Given the description of an element on the screen output the (x, y) to click on. 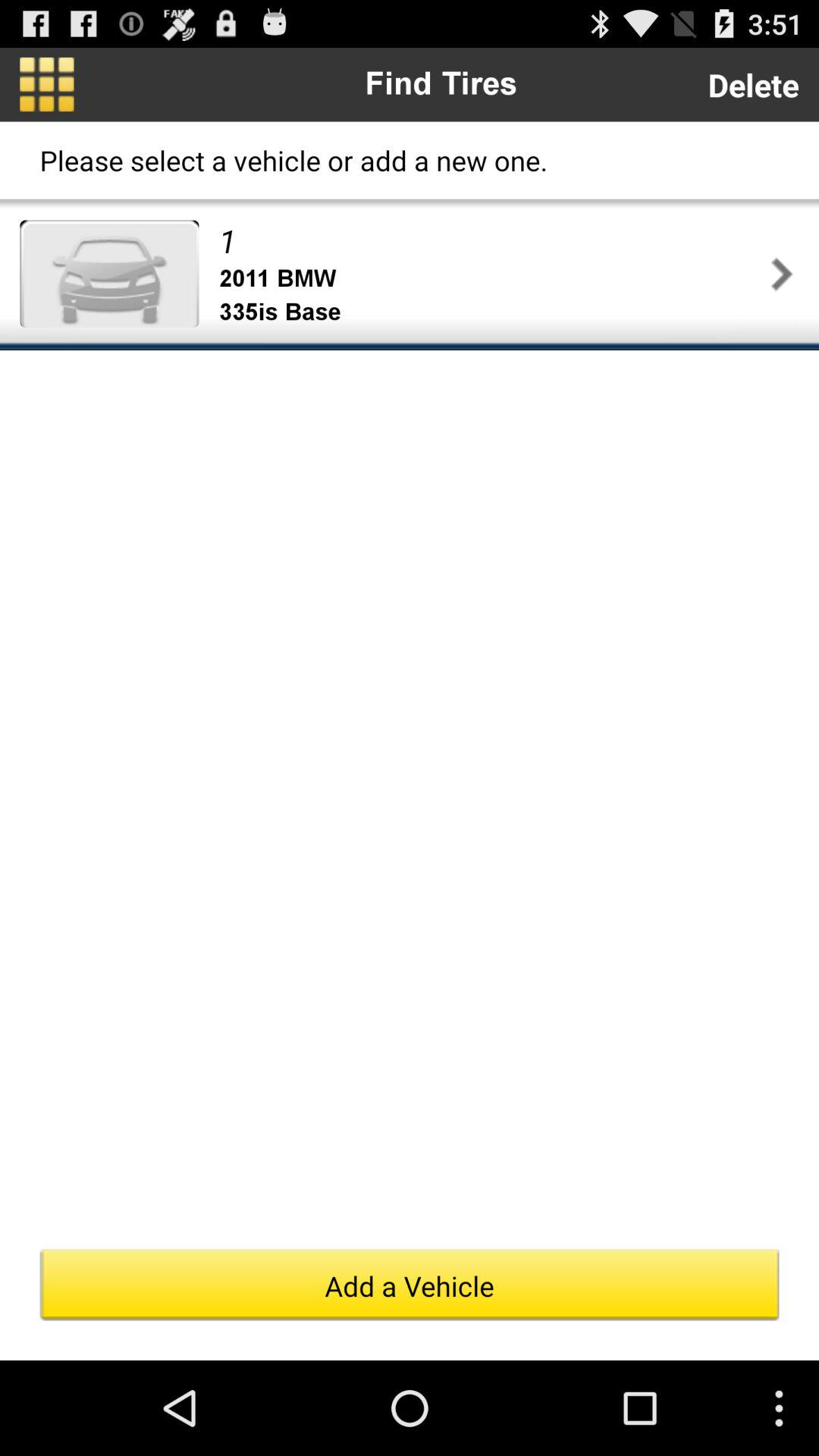
see al the vehicles (46, 84)
